Given the description of an element on the screen output the (x, y) to click on. 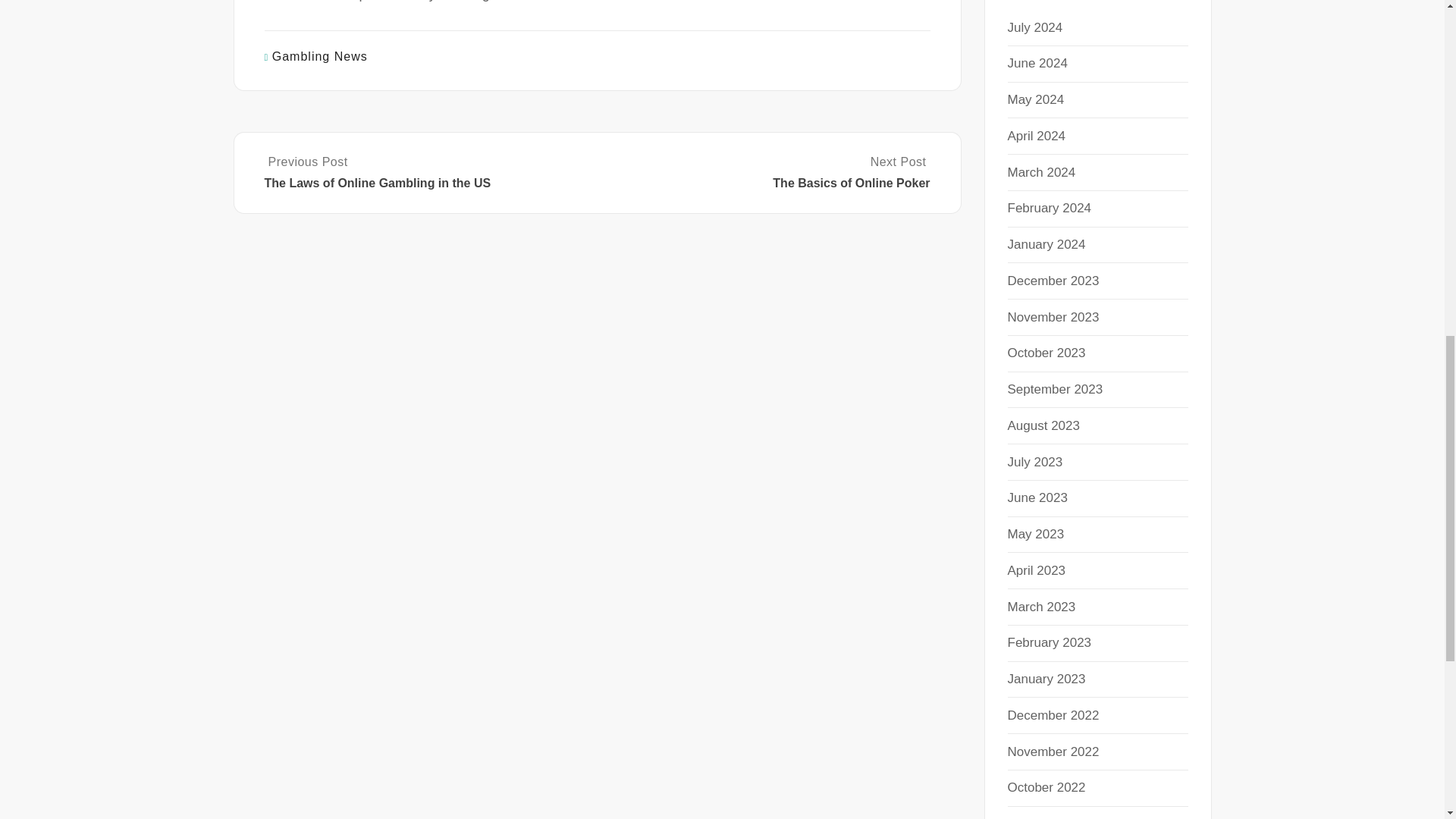
September 2023 (1054, 389)
August 2023 (1042, 425)
May 2024 (1035, 99)
January 2024 (1045, 244)
March 2023 (1041, 606)
May 2023 (1035, 534)
June 2024 (1037, 63)
June 2023 (1037, 497)
April 2023 (1036, 570)
July 2024 (1034, 27)
February 2023 (1048, 642)
January 2023 (1045, 678)
April 2024 (1036, 135)
July 2023 (1034, 462)
October 2023 (1045, 352)
